Given the description of an element on the screen output the (x, y) to click on. 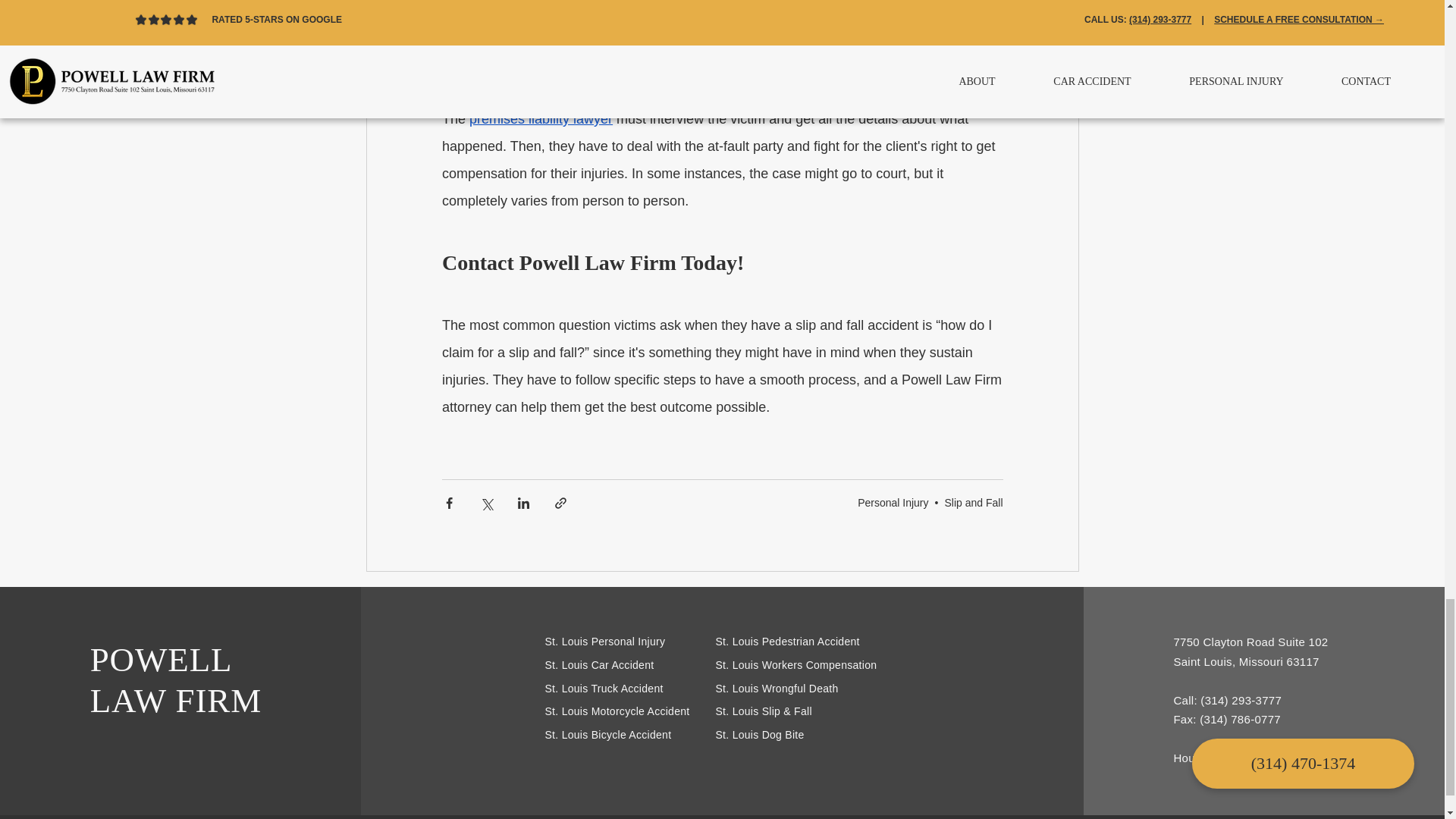
Slip and Fall (973, 501)
Personal Injury (892, 501)
lawyer (876, 64)
St. Louis Bicycle Accident (607, 734)
St. Louis Pedestrian Accident (788, 641)
St. Louis Personal Injury (604, 641)
St. Louis Car Accident (598, 664)
St. Louis Truck Accident (603, 688)
St. Louis Wrongful Death (777, 688)
St. Louis Motorcycle Accident (616, 711)
